Given the description of an element on the screen output the (x, y) to click on. 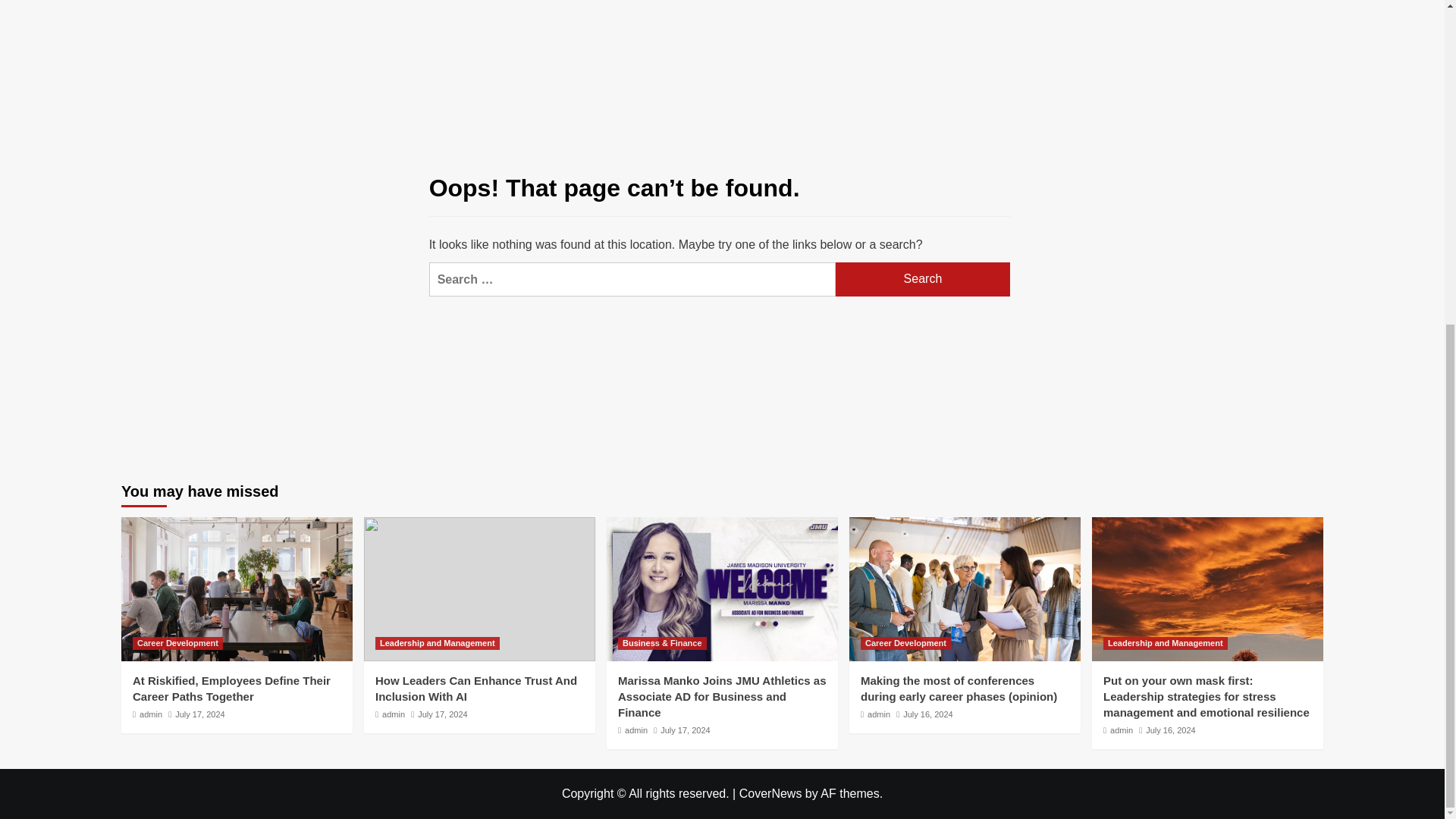
admin (392, 714)
July 17, 2024 (442, 714)
Leadership and Management (437, 643)
July 16, 2024 (1170, 729)
Career Development (905, 643)
admin (150, 714)
July 16, 2024 (927, 714)
Search (1278, 6)
admin (635, 729)
admin (1120, 729)
Search (922, 279)
How Leaders Can Enhance Trust And Inclusion With AI (475, 688)
CoverNews (770, 793)
July 17, 2024 (685, 729)
